Given the description of an element on the screen output the (x, y) to click on. 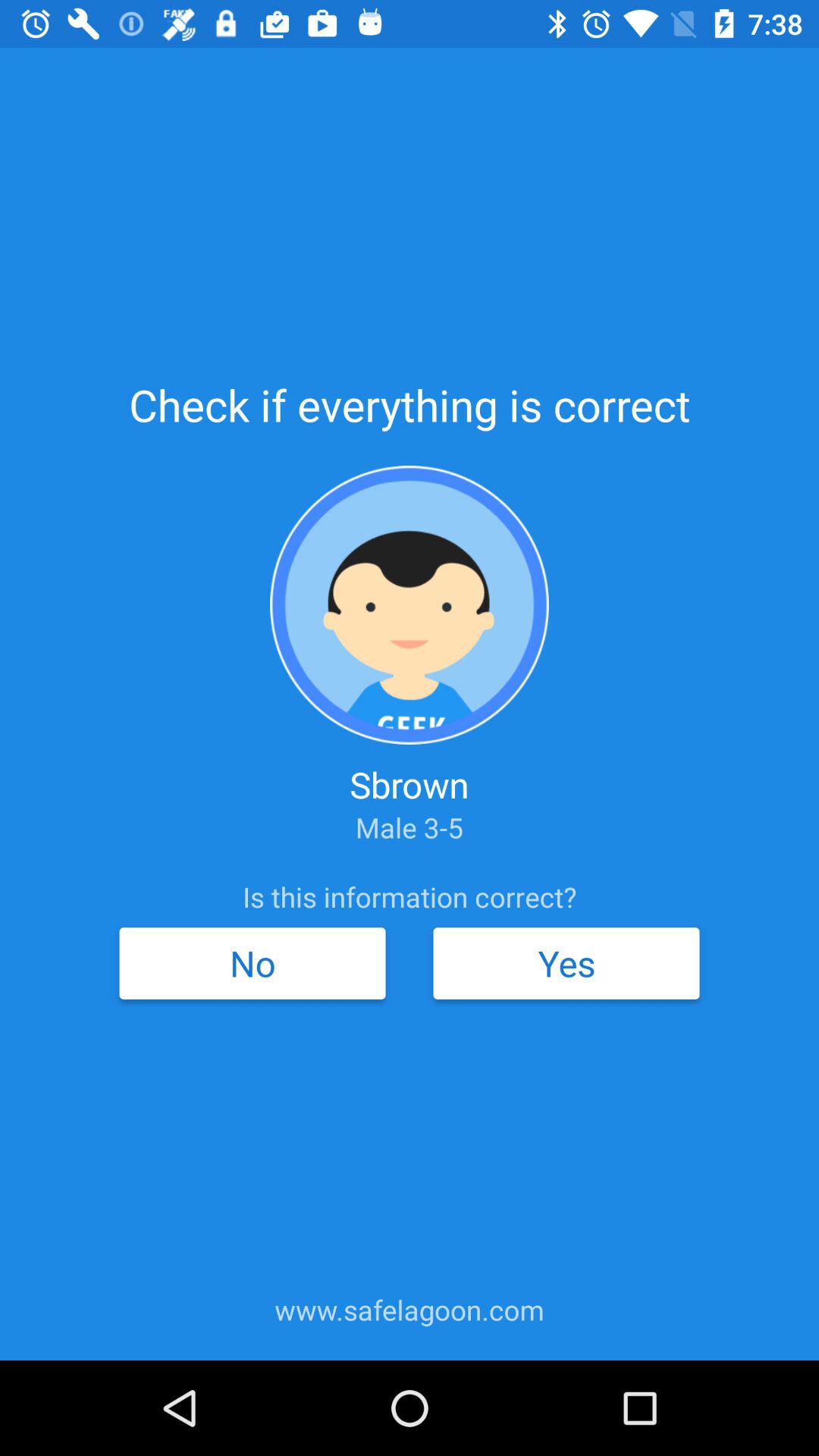
click the icon next to the yes item (252, 963)
